Given the description of an element on the screen output the (x, y) to click on. 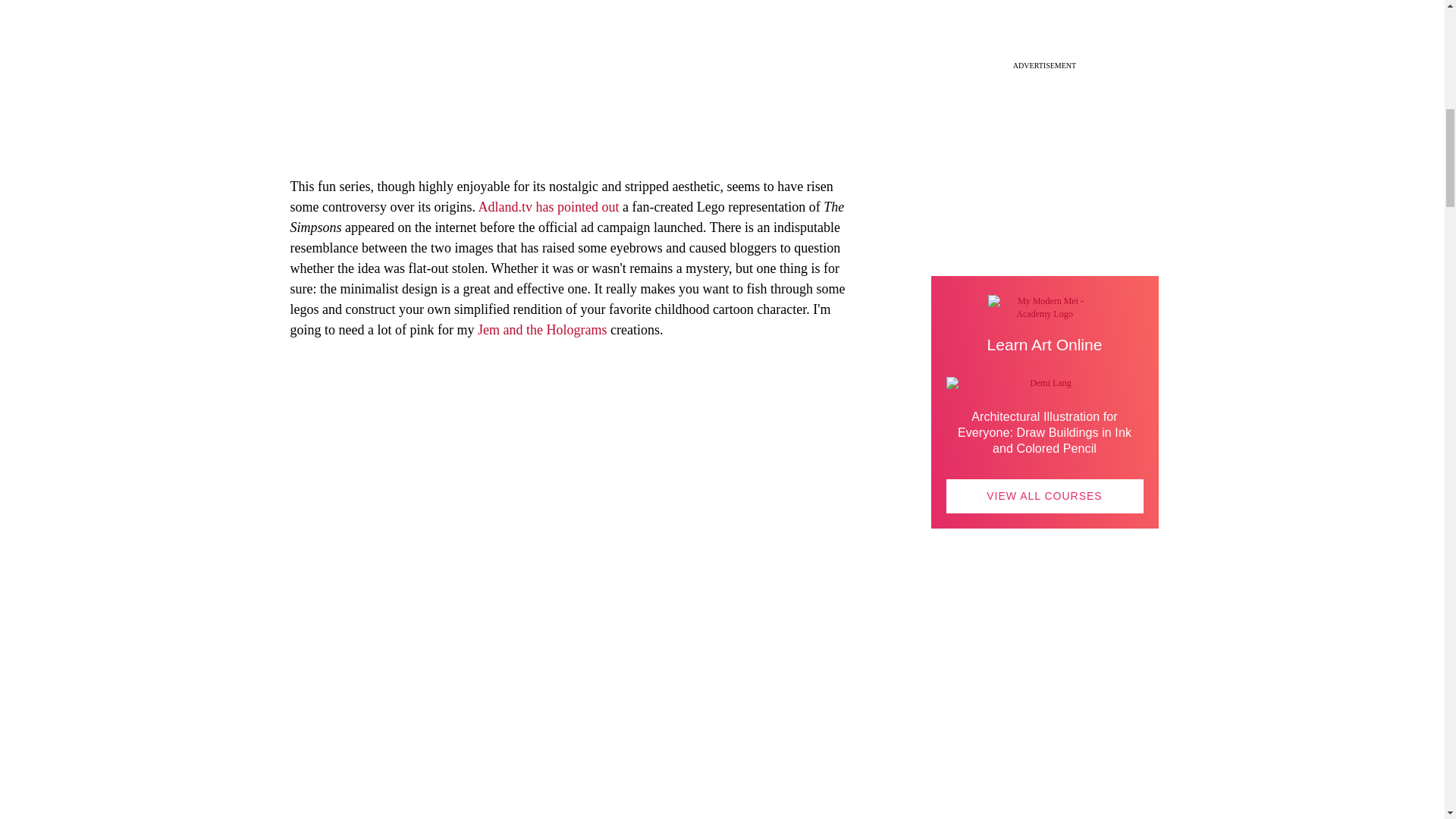
Visit Our Store (1044, 716)
